Given the description of an element on the screen output the (x, y) to click on. 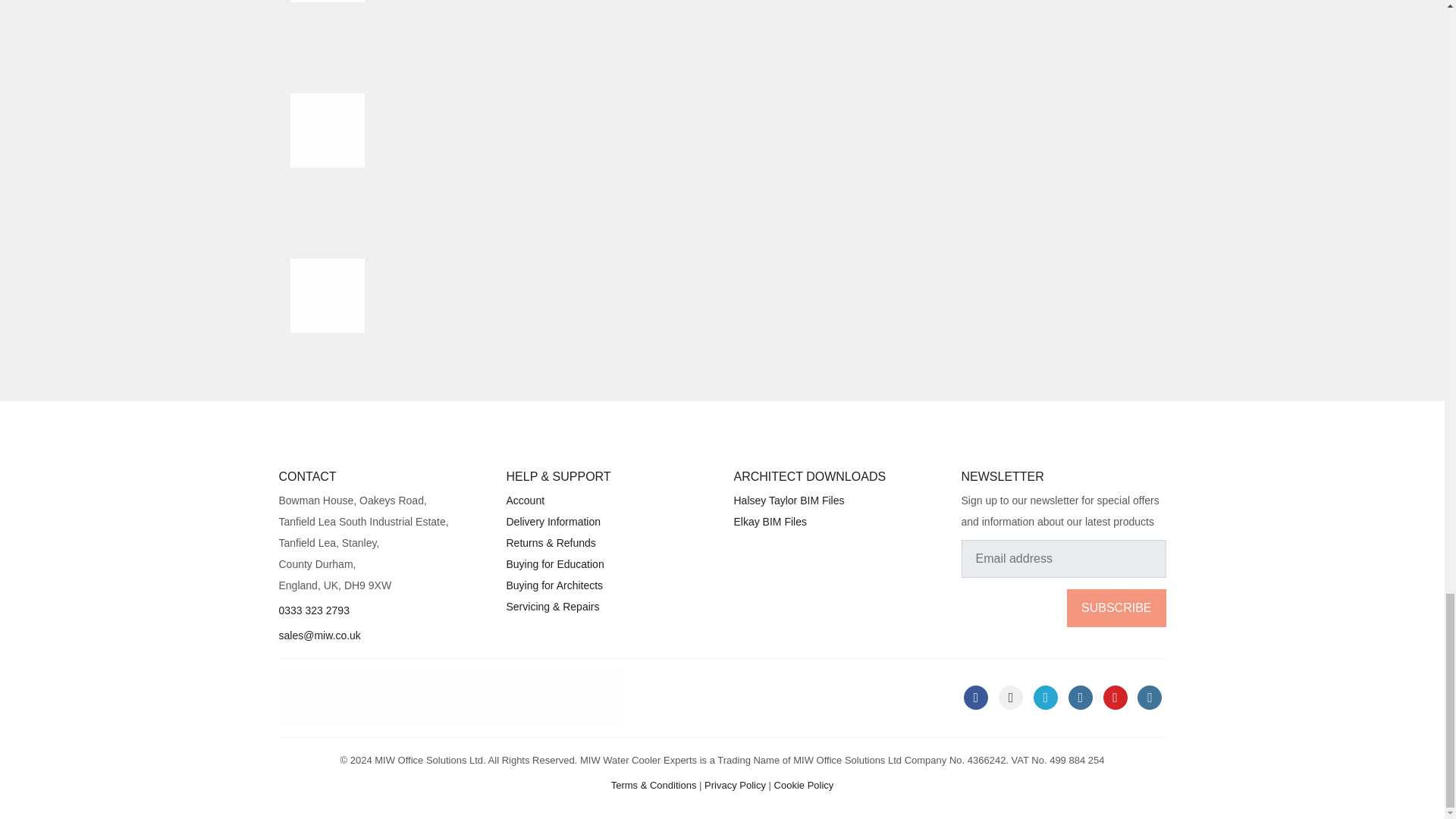
Youtube (1114, 697)
LinkedIn (1010, 697)
Vimeo (1149, 697)
Twitter (1045, 697)
Facebook (975, 697)
Instagram (1080, 697)
